Given the description of an element on the screen output the (x, y) to click on. 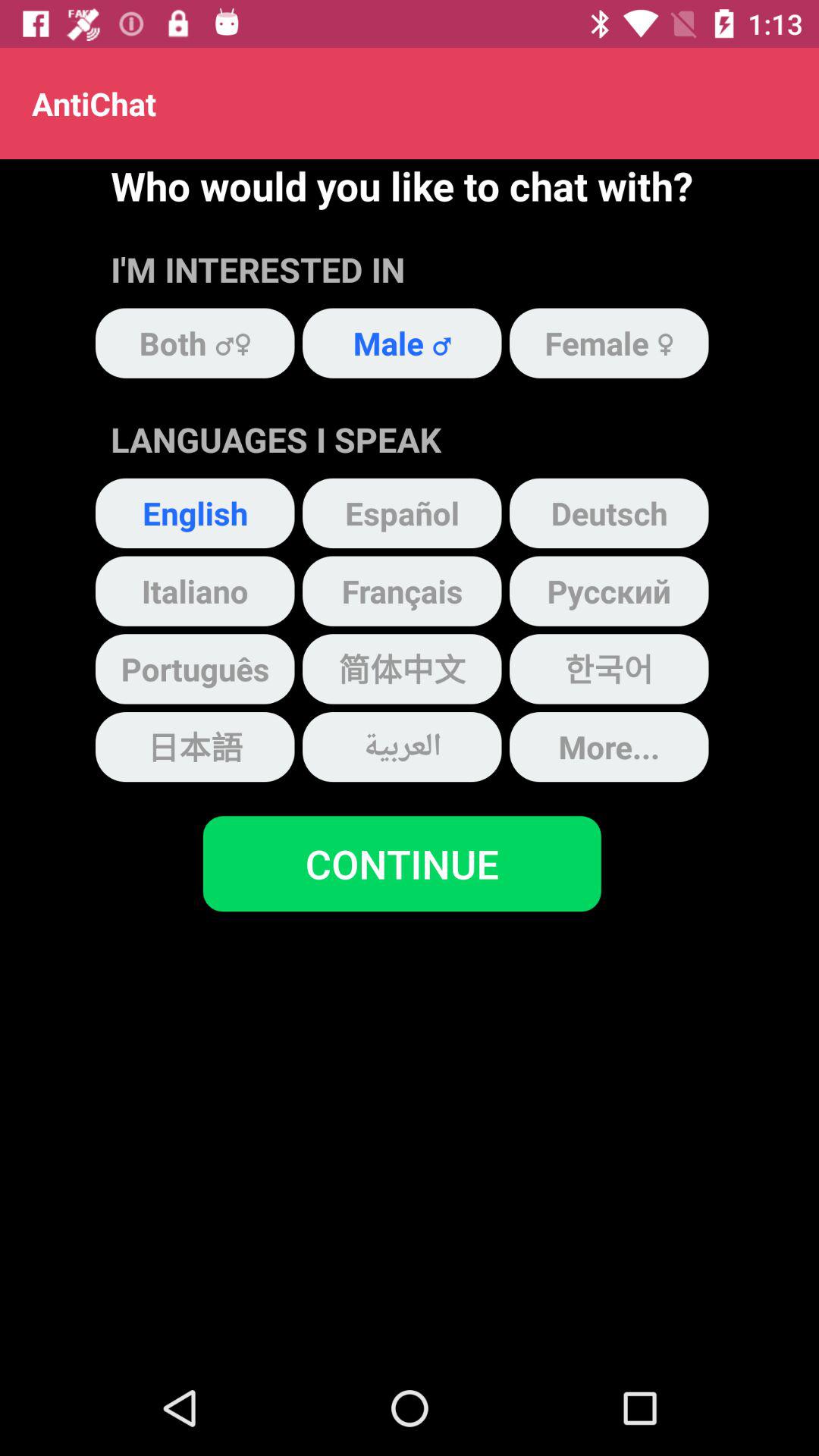
choose icon above italiano icon (194, 513)
